Given the description of an element on the screen output the (x, y) to click on. 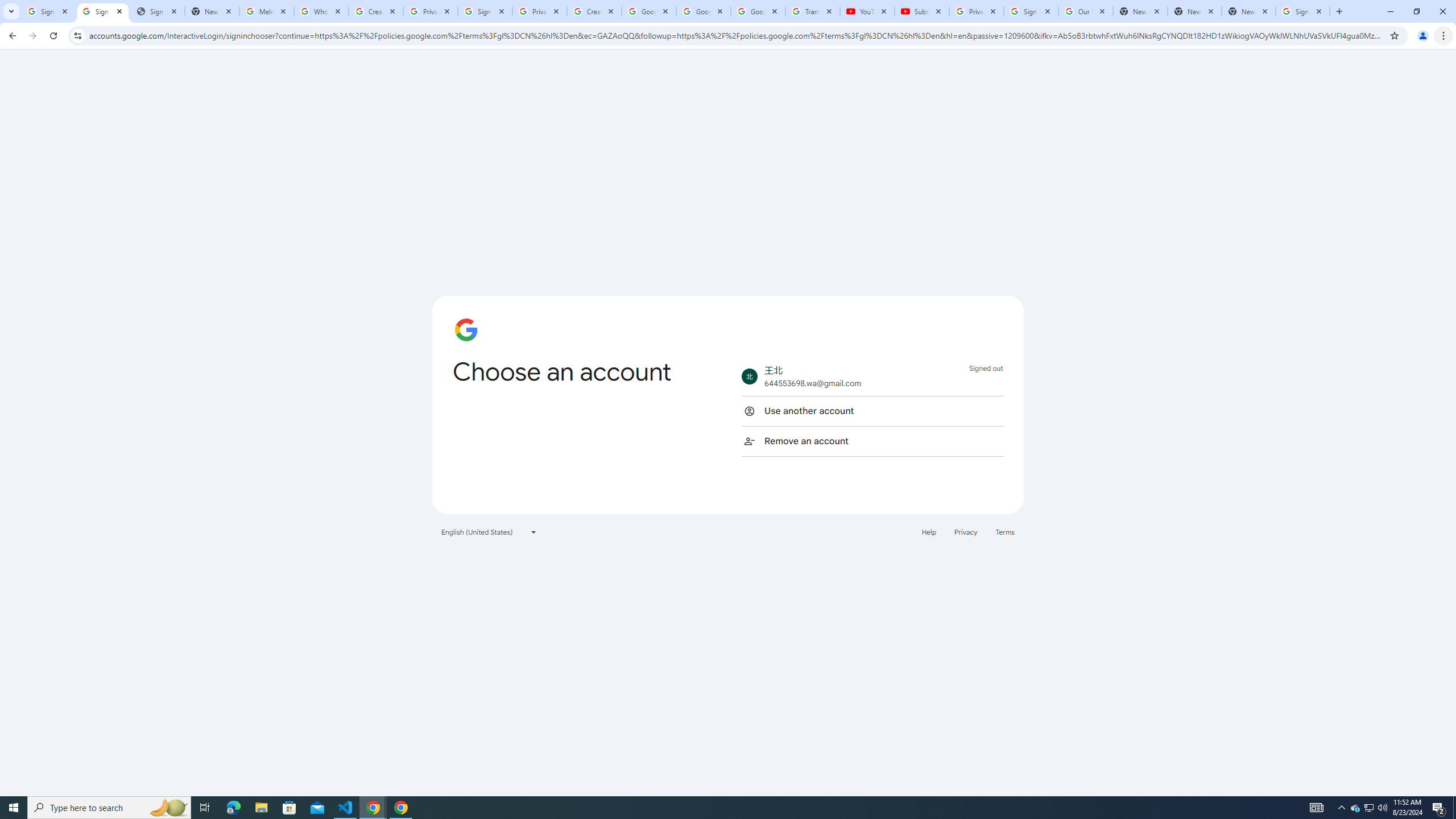
Use another account (871, 410)
Help (928, 531)
Create your Google Account (375, 11)
Terms (1005, 531)
YouTube (866, 11)
New Tab (1249, 11)
